Given the description of an element on the screen output the (x, y) to click on. 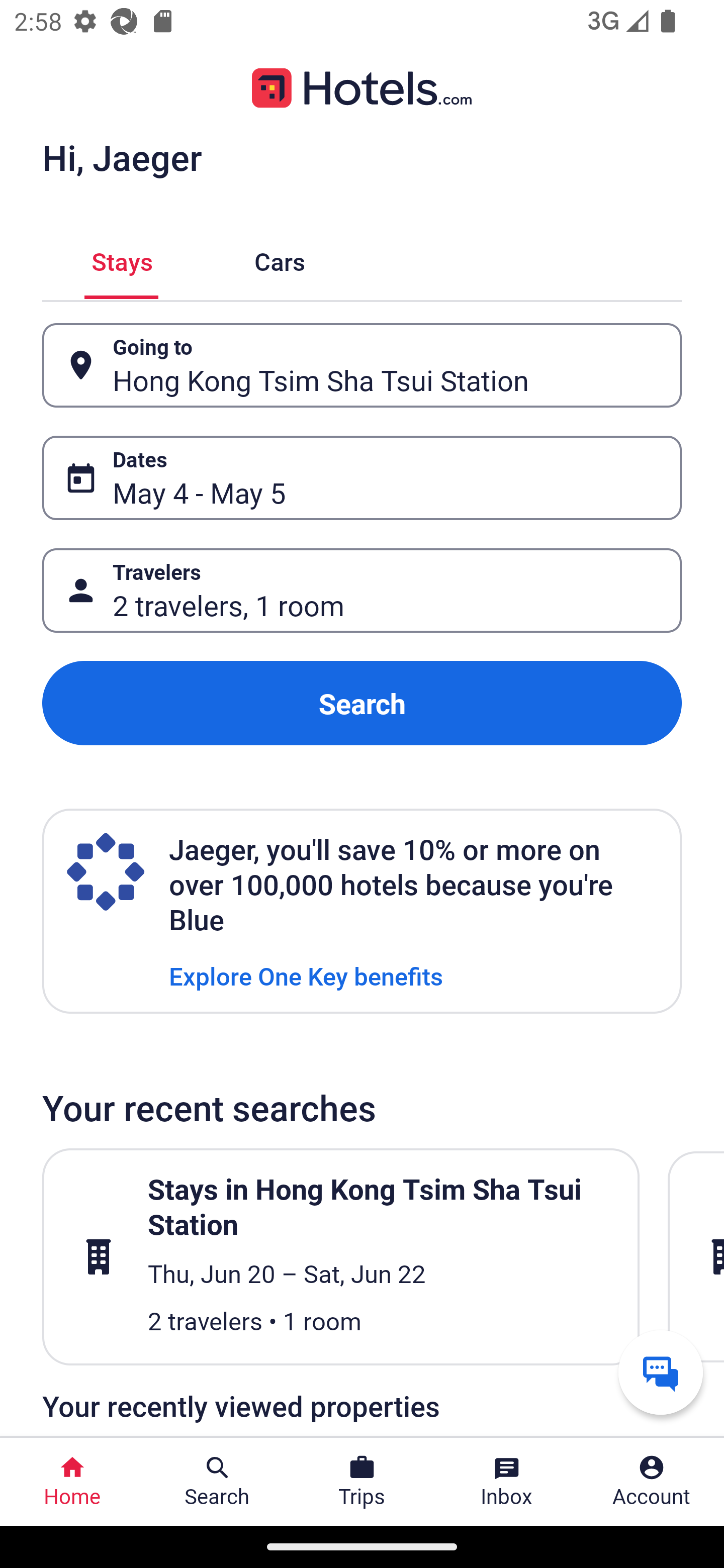
Hi, Jaeger (121, 156)
Cars (279, 259)
Going to Button Hong Kong Tsim Sha Tsui Station (361, 365)
Dates Button May 4 - May 5 (361, 477)
Travelers Button 2 travelers, 1 room (361, 590)
Search (361, 702)
Get help from a virtual agent (660, 1371)
Search Search Button (216, 1481)
Trips Trips Button (361, 1481)
Inbox Inbox Button (506, 1481)
Account Profile. Button (651, 1481)
